Given the description of an element on the screen output the (x, y) to click on. 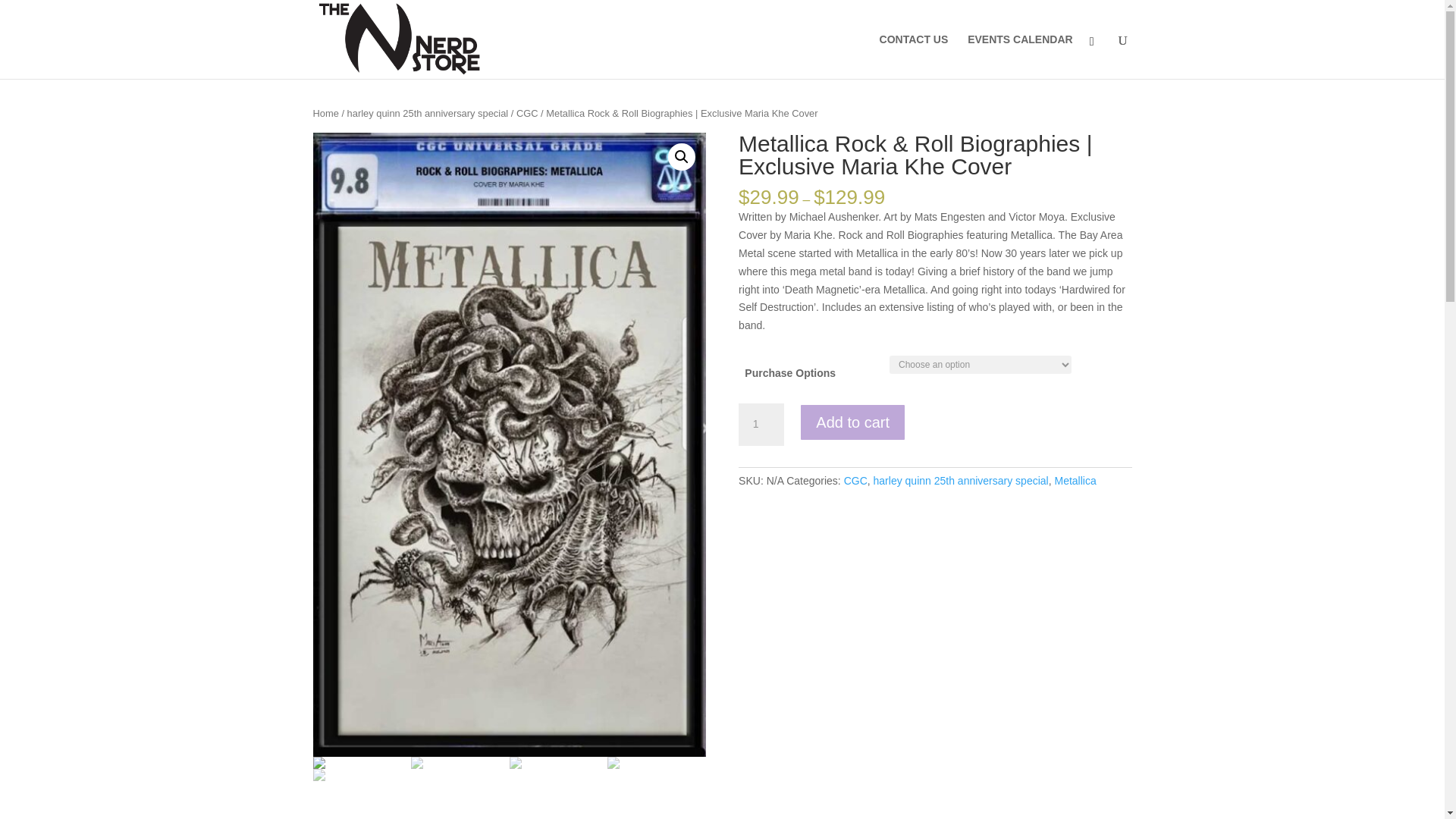
harley quinn 25th anniversary special (427, 112)
Metallica (1075, 480)
Home (325, 112)
CGC (527, 112)
CONTACT US (914, 56)
EVENTS CALENDAR (1019, 56)
Add to cart (852, 422)
harley quinn 25th anniversary special (960, 480)
1 (761, 424)
CGC (855, 480)
